Given the description of an element on the screen output the (x, y) to click on. 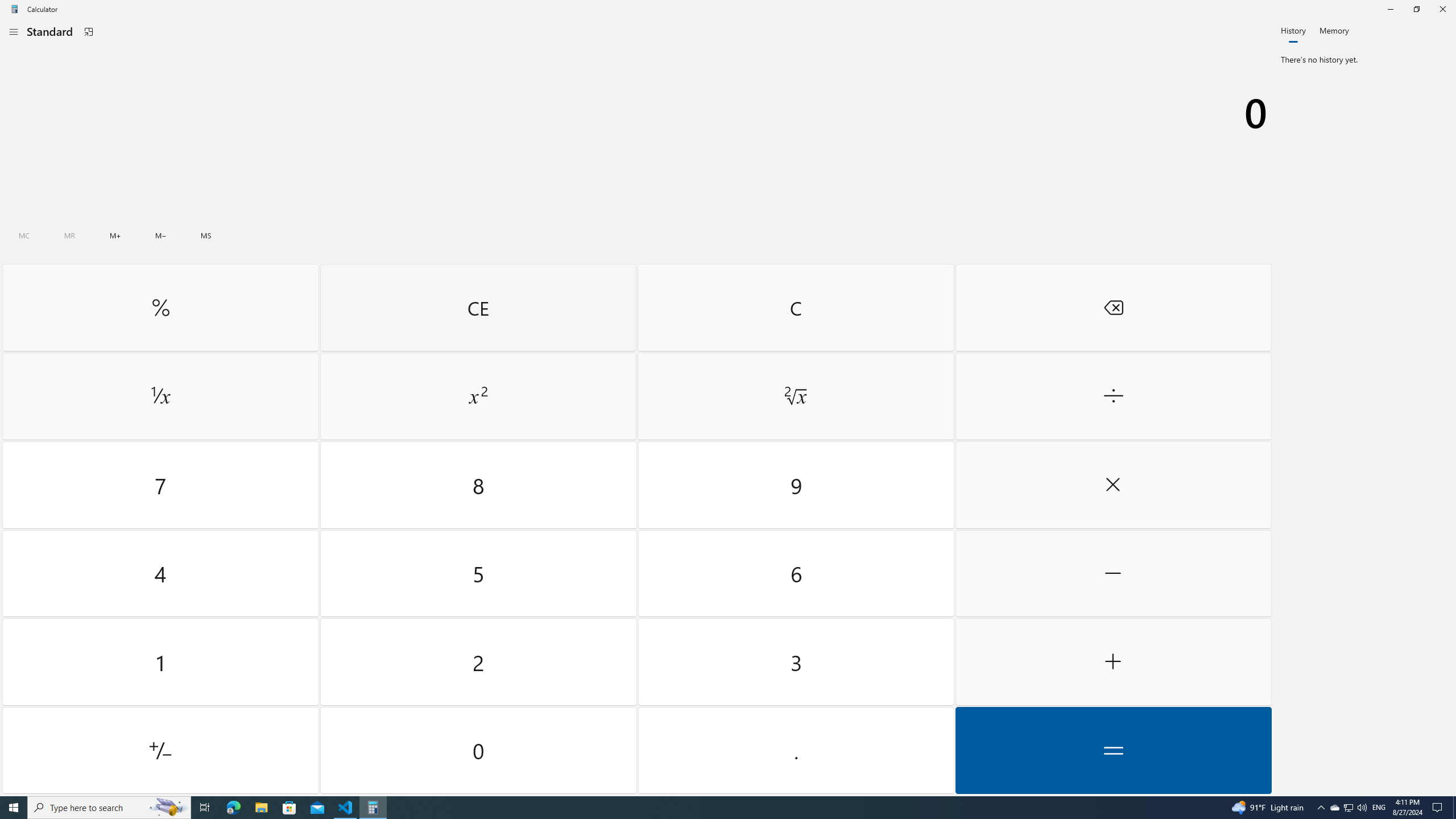
Seven (160, 485)
Two (478, 661)
Memory subtract (160, 235)
One (160, 661)
Four (160, 572)
Minus (1113, 572)
Plus (1113, 661)
Running applications (706, 807)
Positive negative (160, 749)
Tray Input Indicator - English (United States) (1378, 807)
